Given the description of an element on the screen output the (x, y) to click on. 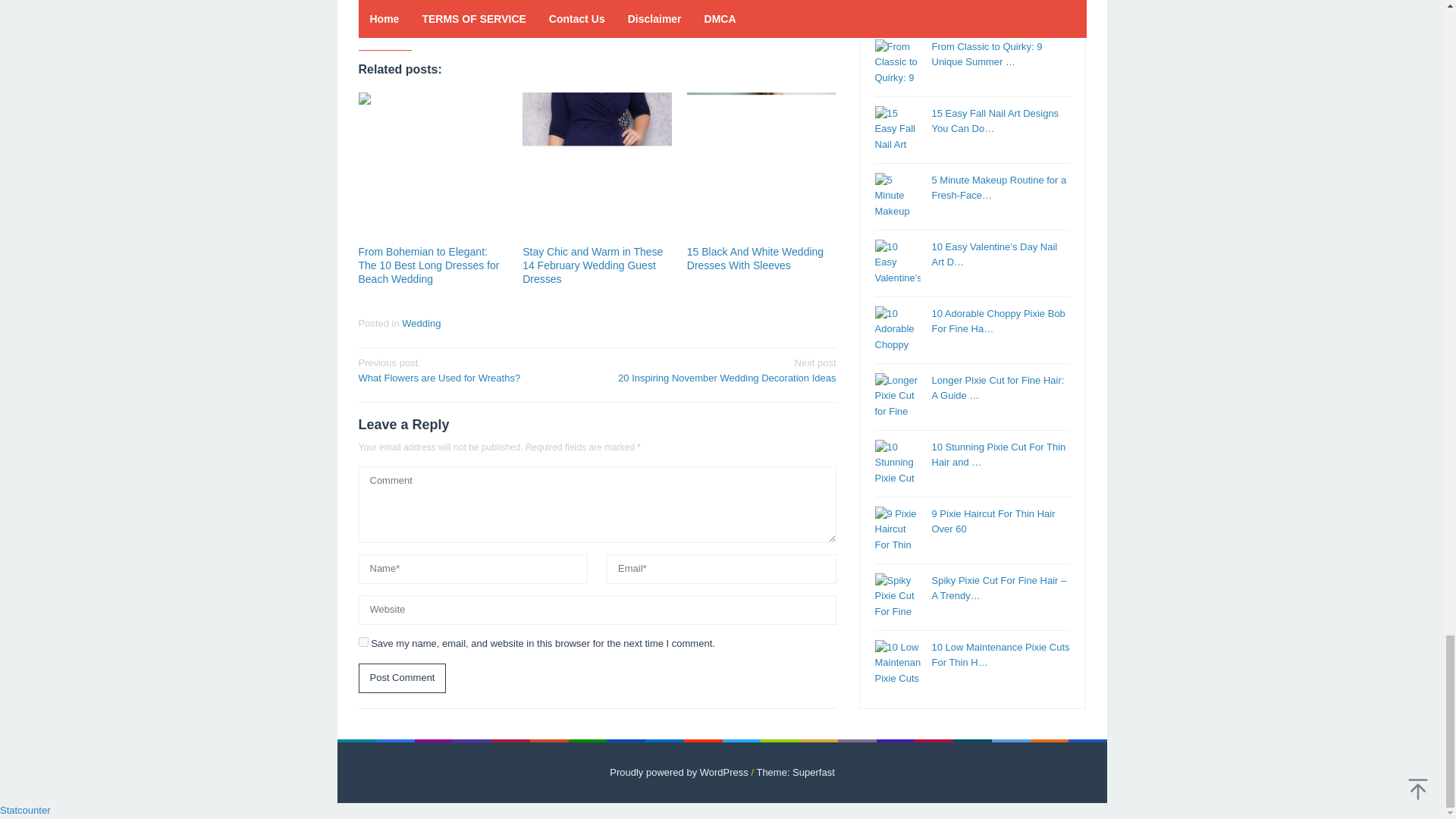
Share this (369, 23)
Post Comment (401, 677)
yes (363, 642)
Whatsapp (475, 23)
Pin this (421, 23)
